Given the description of an element on the screen output the (x, y) to click on. 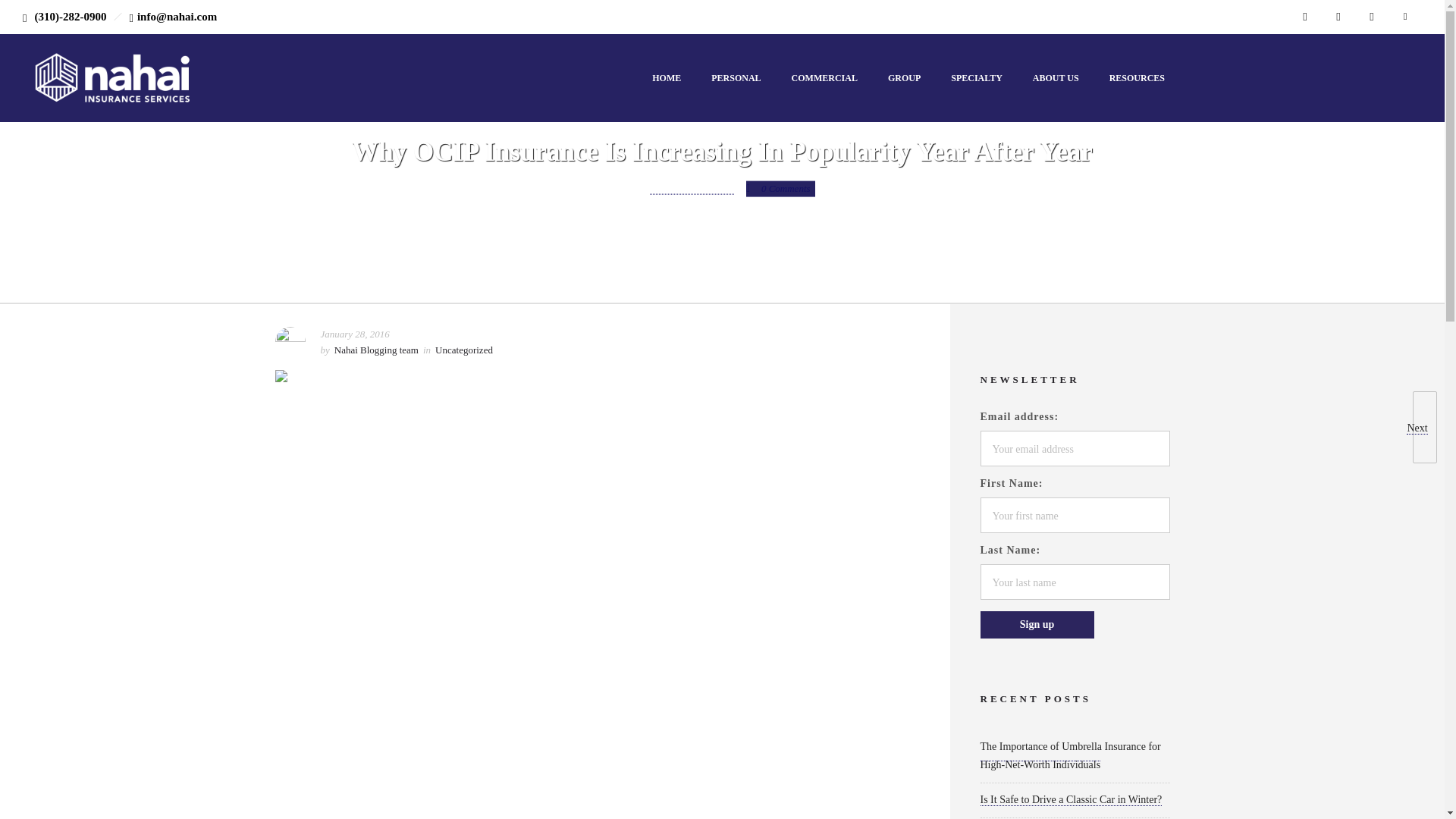
COMMERCIAL (824, 78)
Facebook (1305, 16)
mail (1405, 16)
PERSONAL (735, 78)
LinkedIN (1338, 16)
HOME (666, 78)
Sign up (1036, 624)
Twitter (1372, 16)
